Given the description of an element on the screen output the (x, y) to click on. 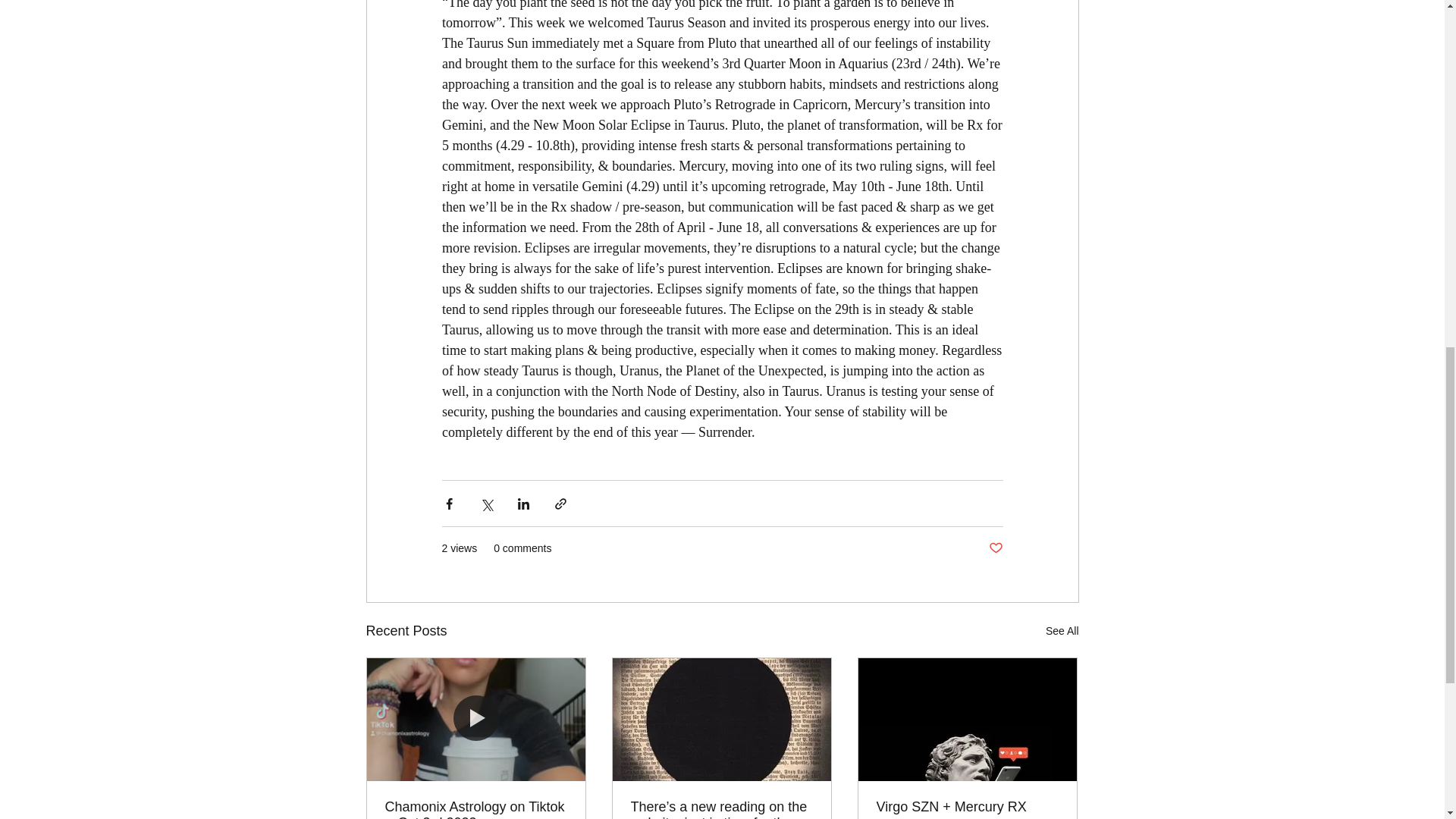
Chamonix Astrology on Tiktok -- Oct 3rd 2023 (476, 809)
Post not marked as liked (995, 548)
See All (1061, 630)
